Given the description of an element on the screen output the (x, y) to click on. 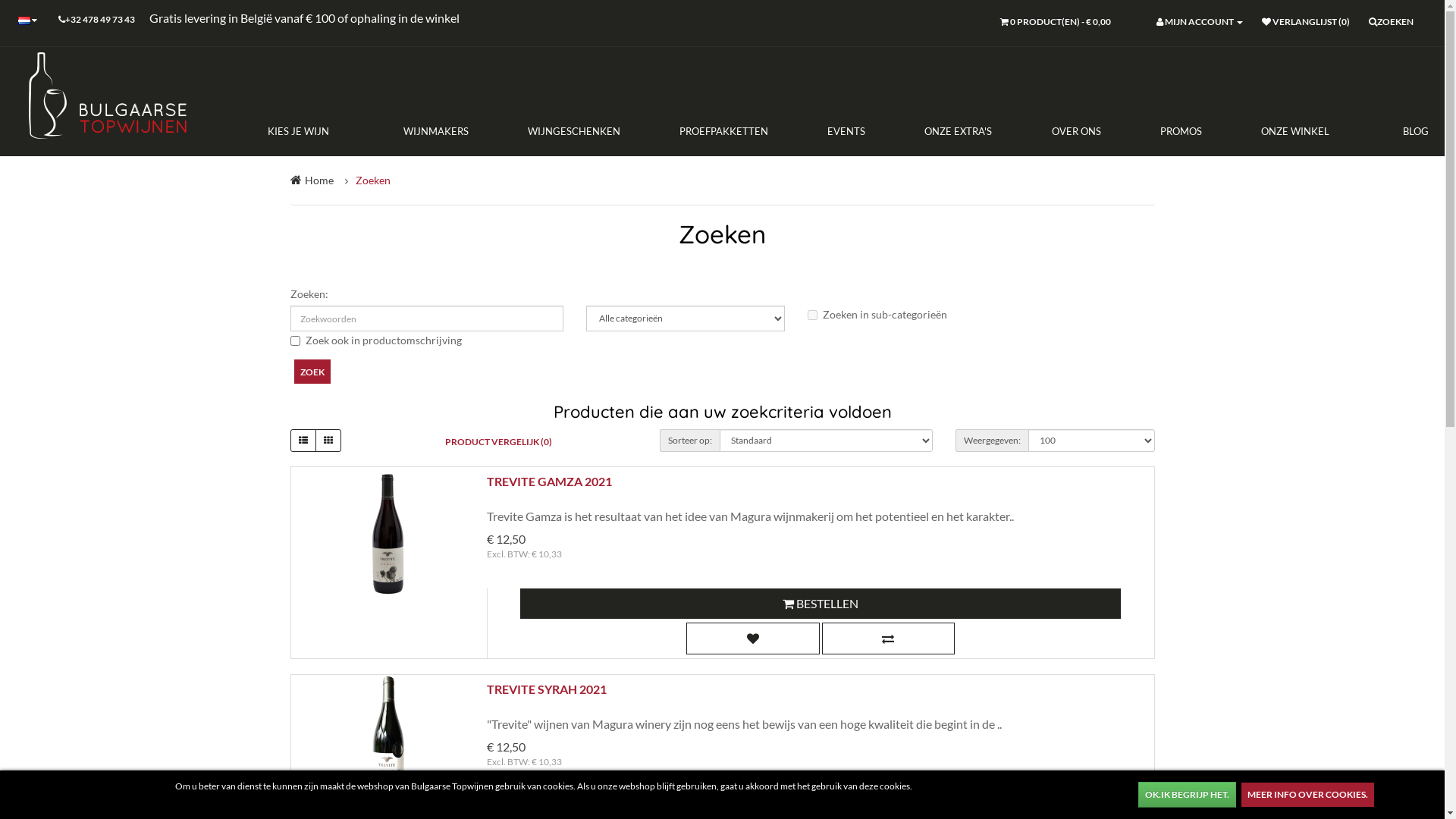
BLOG Element type: text (1400, 131)
Bulgaarse Topwijnen Element type: hover (105, 97)
Bulgaarse Topwijnen Element type: text (1353, 800)
ZOEKEN Element type: text (1391, 22)
Trevite Syrah 2021 Element type: hover (387, 739)
VERLANGLIJST (0) Element type: text (1305, 22)
Trevite Gamza 2021 Element type: hover (387, 531)
ONZE EXTRA'S Element type: text (957, 131)
TREVITE SYRAH 2021 Element type: text (546, 688)
Home Element type: text (318, 179)
MEER INFO OVER COOKIES. Element type: text (1307, 794)
ONZE WINKEL Element type: text (1294, 131)
PROMOS Element type: text (1180, 131)
Weergeven als lijst Element type: hover (302, 440)
BESTELLEN Element type: text (820, 603)
+32 478 49 73 43 Element type: text (96, 20)
Weergeven als rooster Element type: hover (328, 440)
Nederlands Element type: hover (24, 20)
WIJNMAKERS Element type: text (435, 131)
PRODUCT VERGELIJK (0) Element type: text (498, 442)
Verlanglijst Element type: hover (752, 638)
PROEFPAKKETTEN Element type: text (723, 131)
OK.Ik begrijp het. Element type: text (1187, 794)
TREVITE GAMZA 2021 Element type: text (548, 480)
EVENTS Element type: text (845, 131)
MIJN ACCOUNT Element type: text (1199, 22)
WIJNGESCHENKEN Element type: text (573, 131)
Zoeken Element type: text (371, 179)
KIES JE WIJN Element type: text (312, 131)
OVER ONS Element type: text (1075, 131)
vergelijk Element type: hover (888, 638)
